Given the description of an element on the screen output the (x, y) to click on. 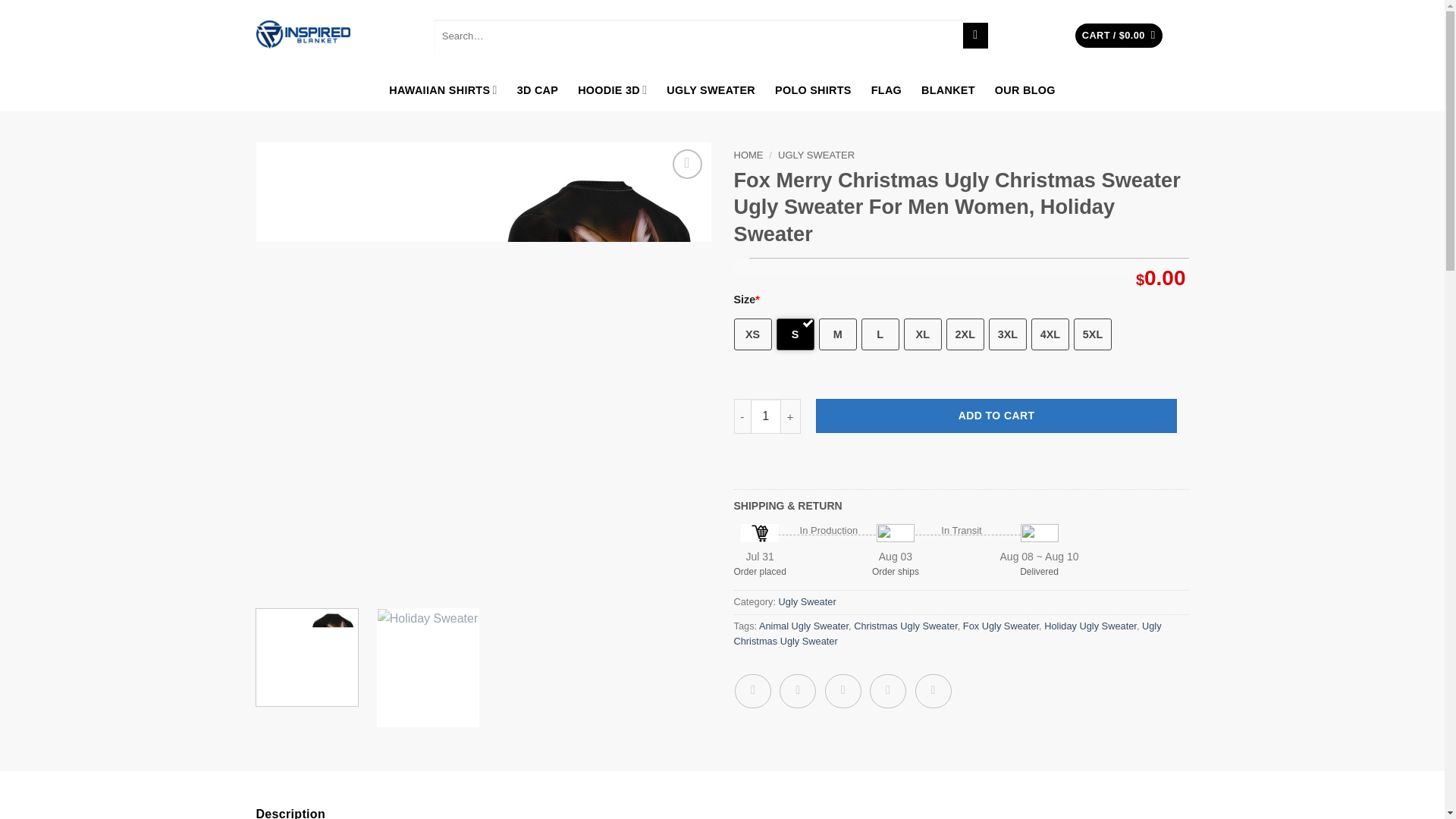
3D CAP (537, 89)
Cart (1118, 35)
Zoom (686, 164)
XL (923, 334)
L (880, 334)
HOODIE 3D (612, 89)
XS (752, 334)
2XL (965, 334)
Search (975, 35)
S (794, 334)
M (837, 334)
HAWAIIAN SHIRTS (442, 89)
3XL (1007, 334)
